Given the description of an element on the screen output the (x, y) to click on. 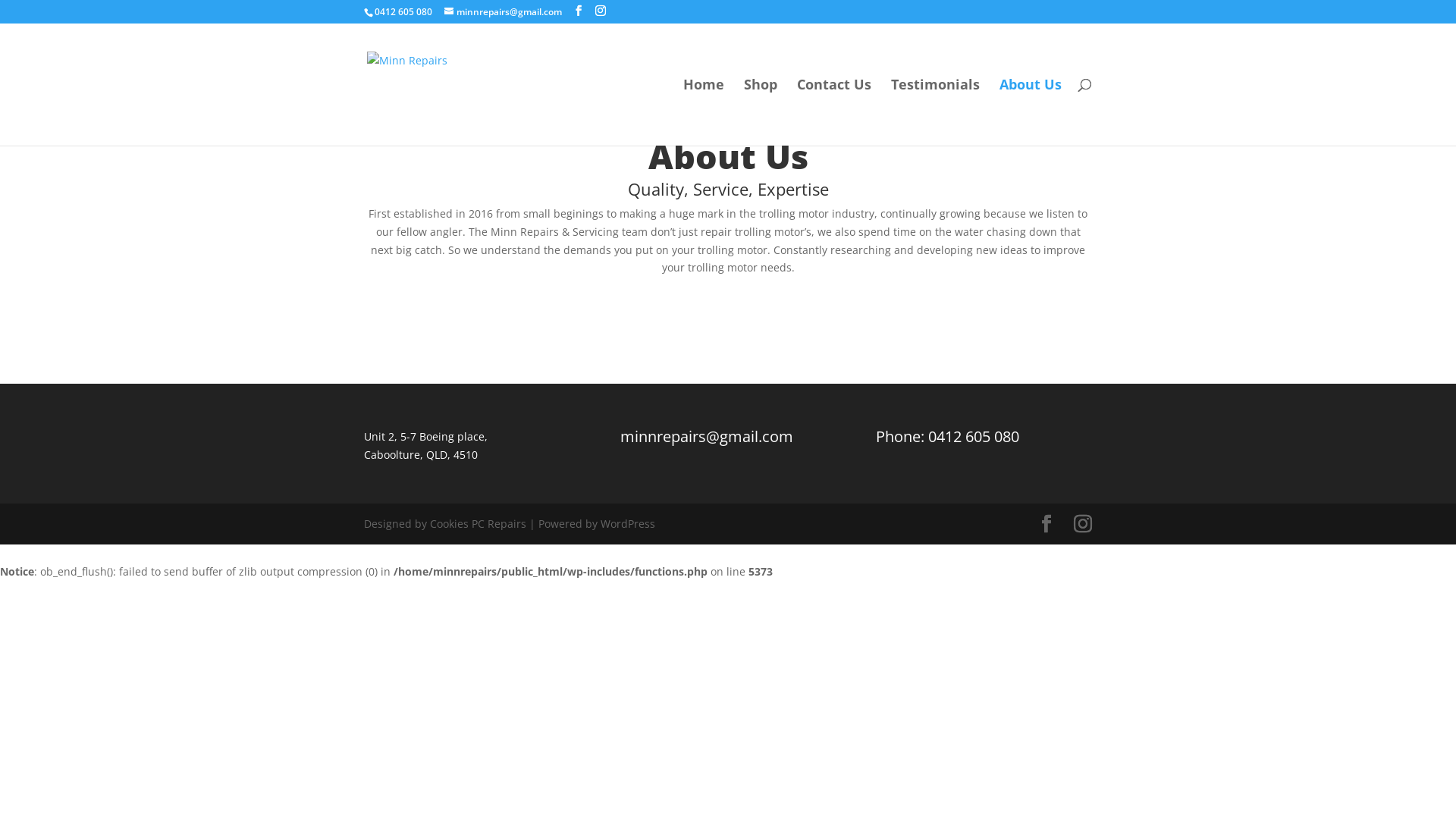
minnrepairs@gmail.com Element type: text (502, 11)
minnrepairs@gmail.com Element type: text (706, 436)
Contact Us Element type: text (834, 111)
Home Element type: text (703, 111)
Shop Element type: text (760, 111)
About Us Element type: text (1030, 111)
Testimonials Element type: text (935, 111)
